Given the description of an element on the screen output the (x, y) to click on. 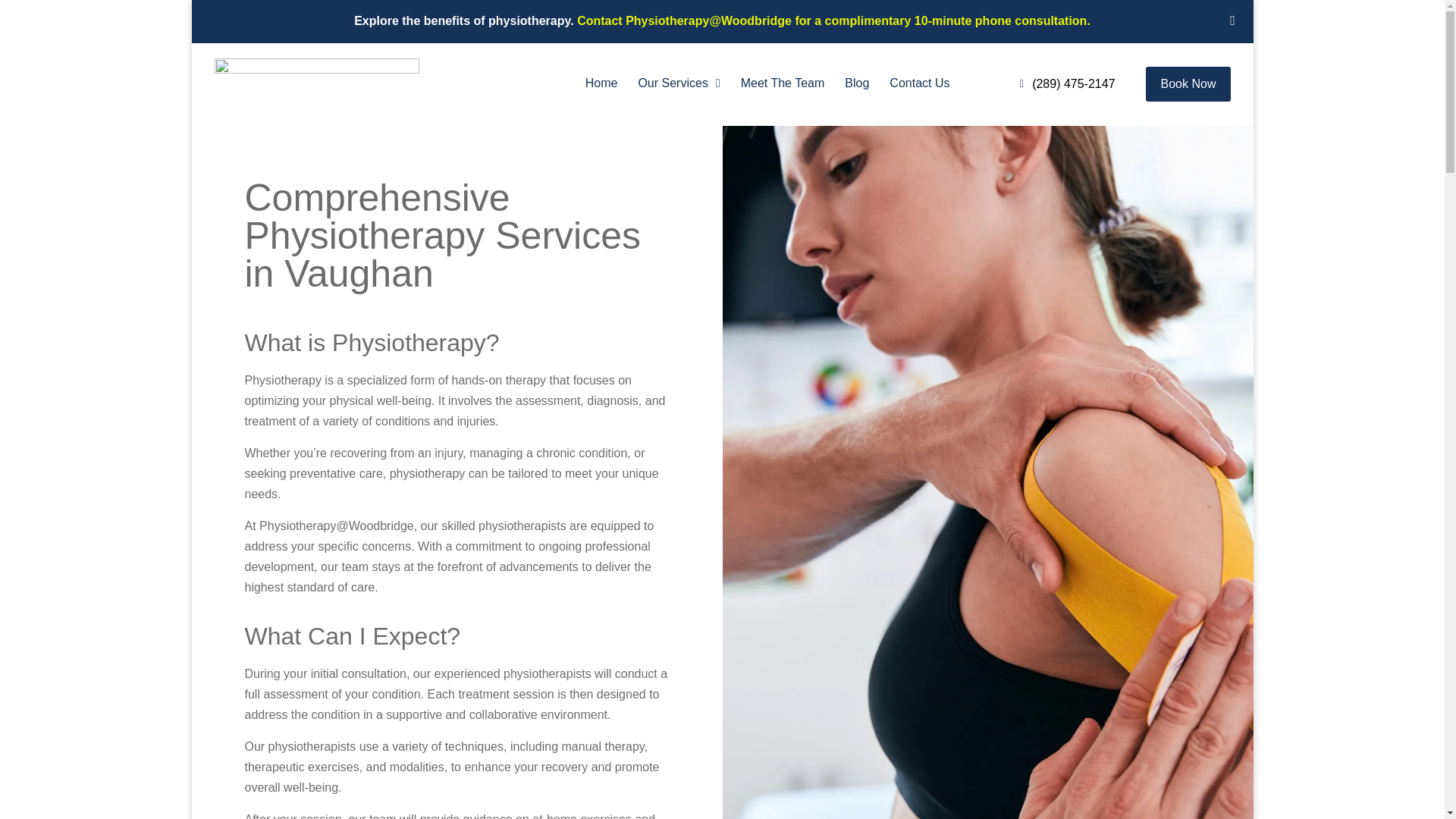
Contact Us (919, 83)
Meet The Team (783, 83)
Our Services (678, 83)
